Given the description of an element on the screen output the (x, y) to click on. 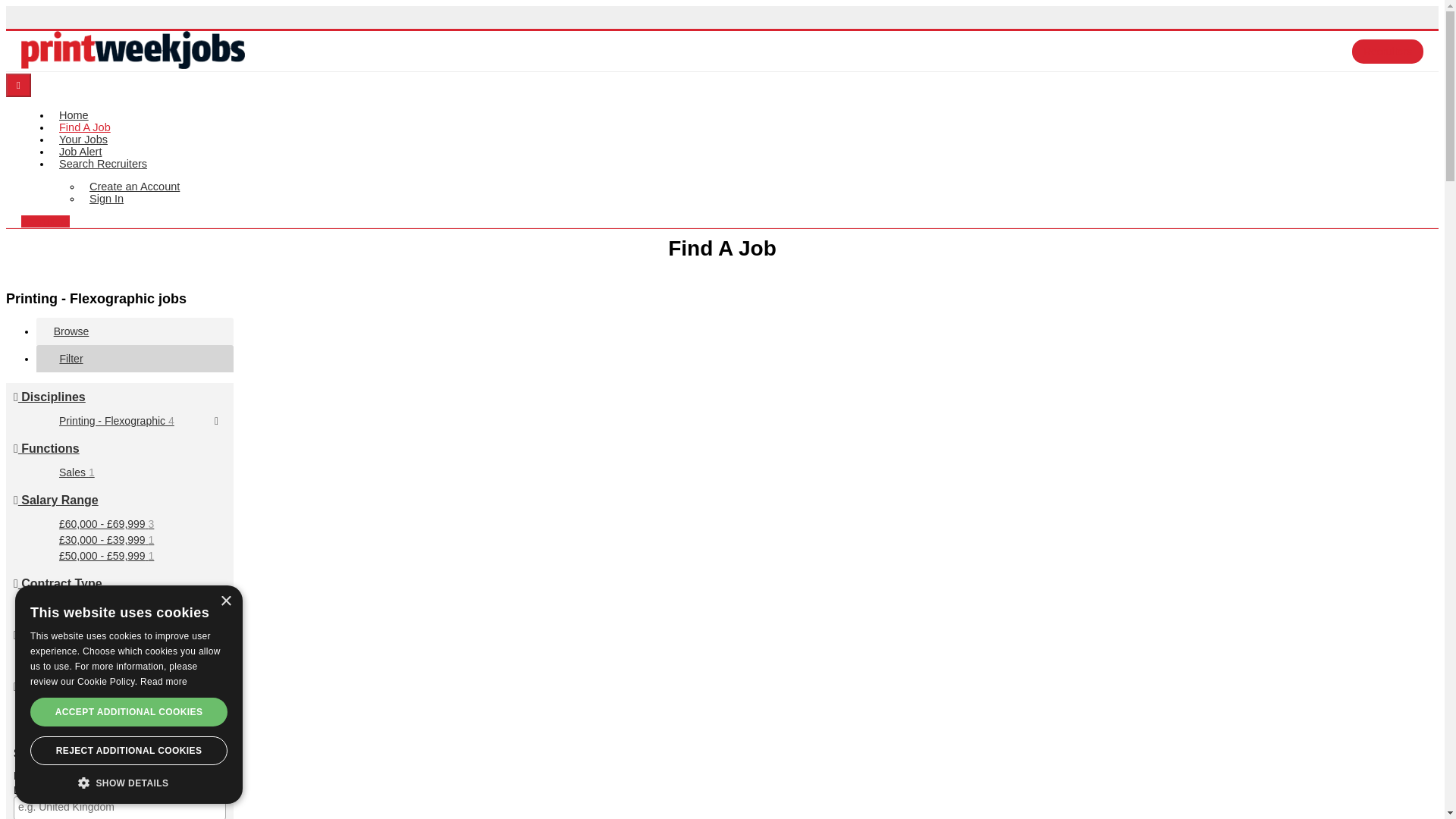
Hours (34, 634)
Search Recruiters (102, 163)
Disciplines (49, 396)
Recruiters (1387, 51)
Create an Account (134, 185)
Full Time 4 (84, 658)
Contract Type (57, 583)
Printing - Flexographic 4 (116, 420)
Functions (46, 448)
Recruiter Type (58, 686)
Home (73, 114)
Recruitment Consultant 4 (119, 710)
Sign In (106, 198)
Filter (71, 358)
Sales 1 (76, 472)
